Given the description of an element on the screen output the (x, y) to click on. 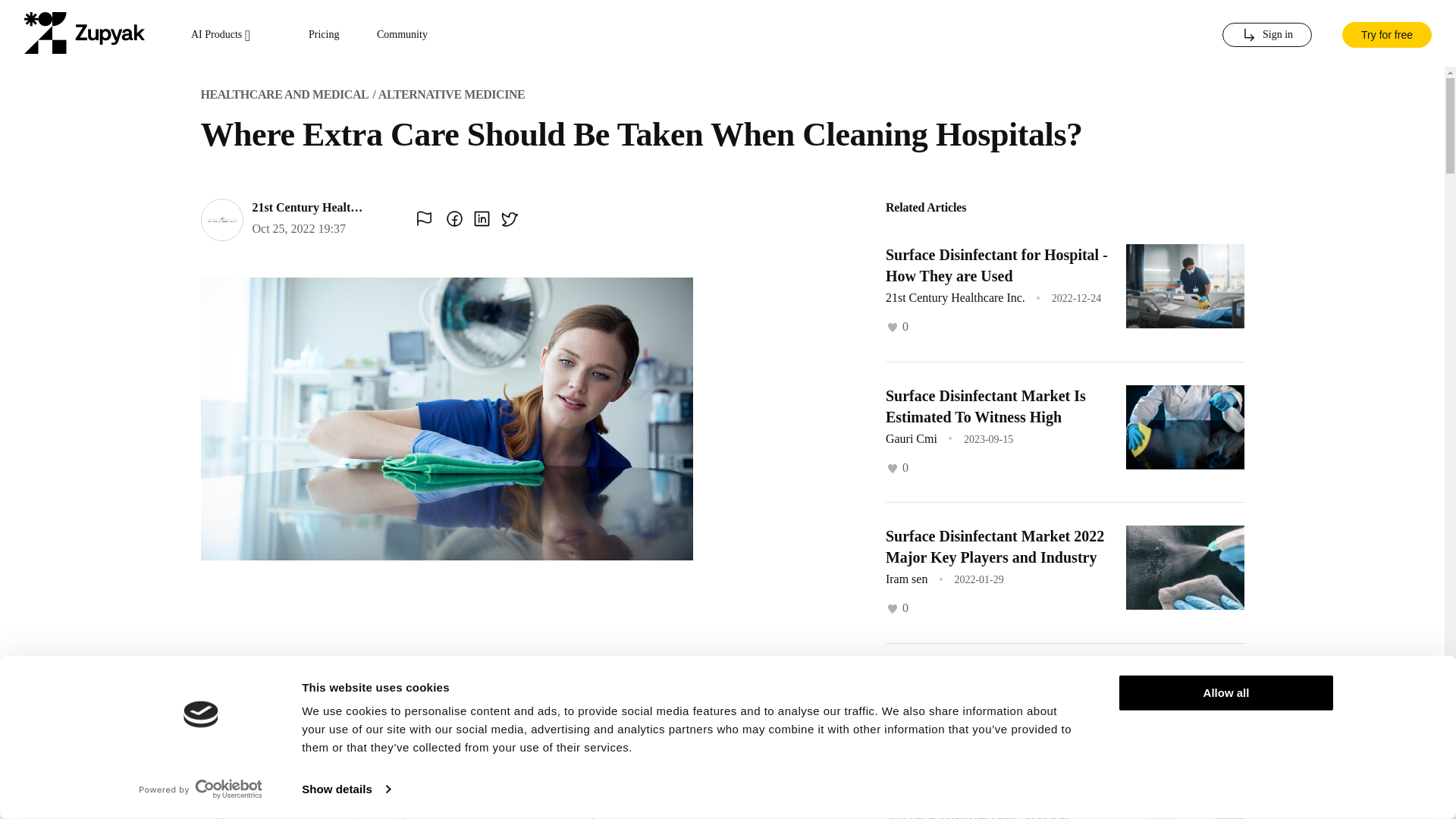
Show details (345, 789)
Surface Disinfectant for Hospital - How They are Used (996, 265)
